Given the description of an element on the screen output the (x, y) to click on. 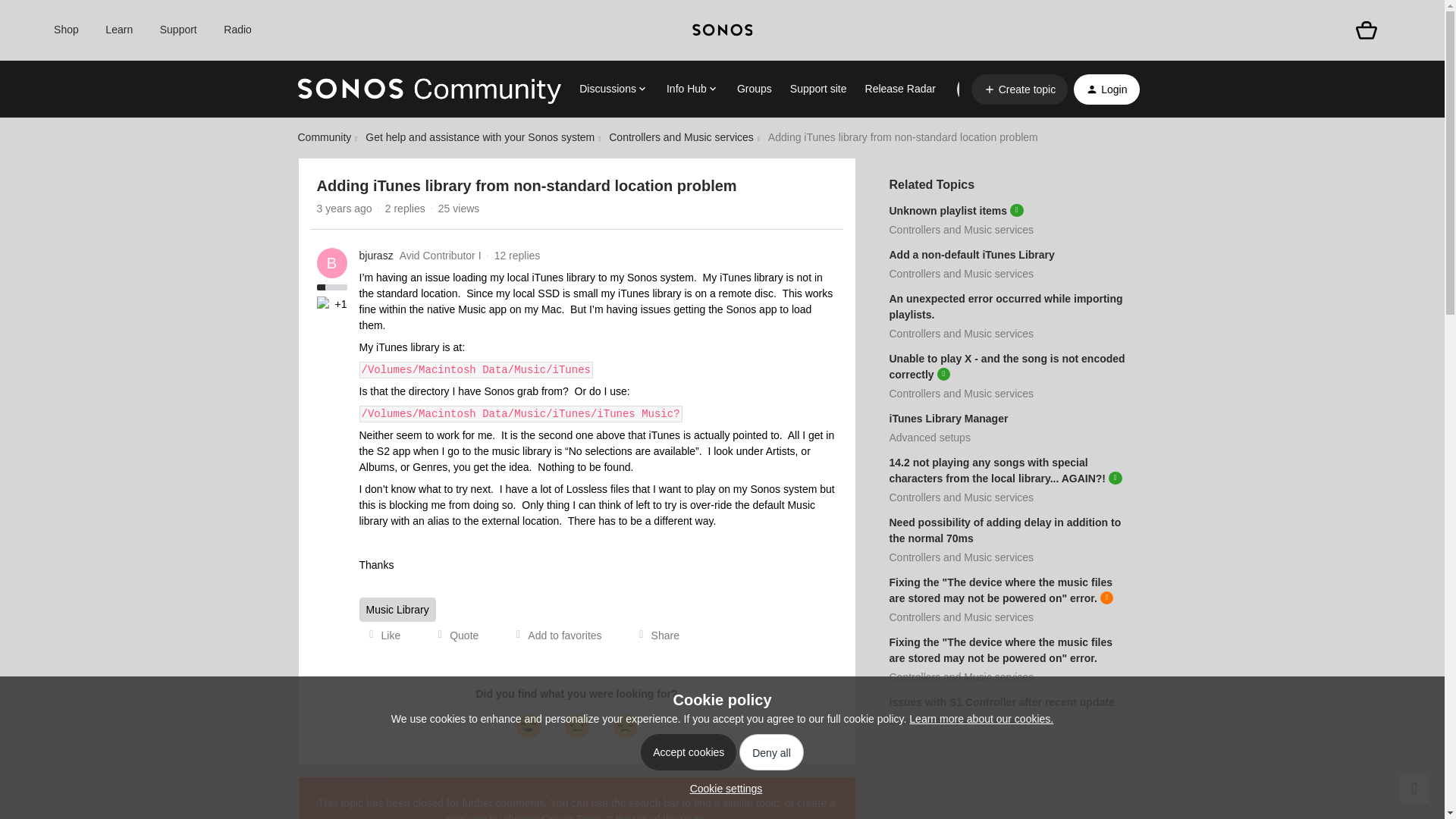
Support (178, 30)
Discussions (613, 88)
Shop (65, 30)
Learn (118, 30)
Radio (237, 30)
